Given the description of an element on the screen output the (x, y) to click on. 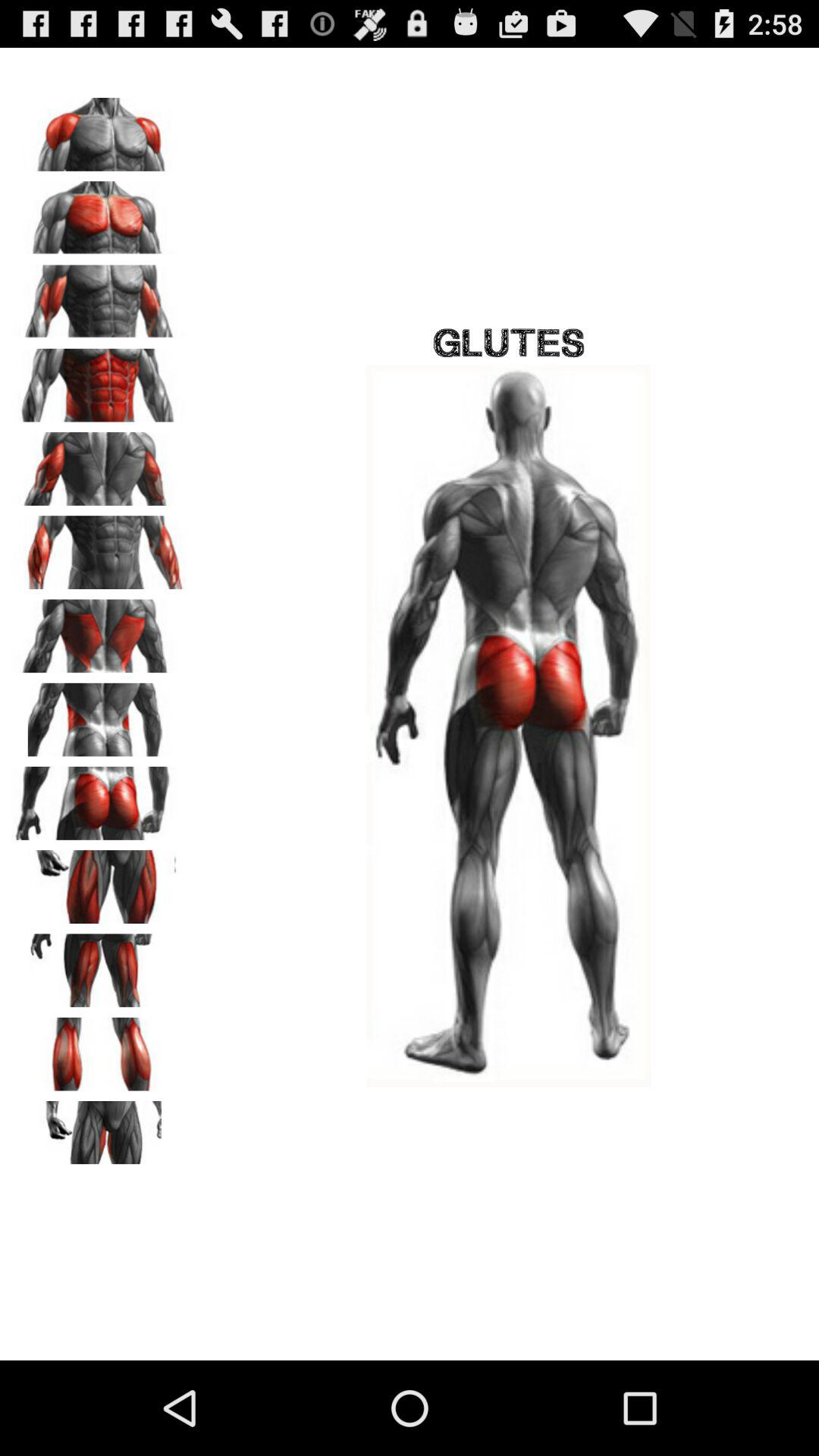
pecs selection (99, 212)
